Given the description of an element on the screen output the (x, y) to click on. 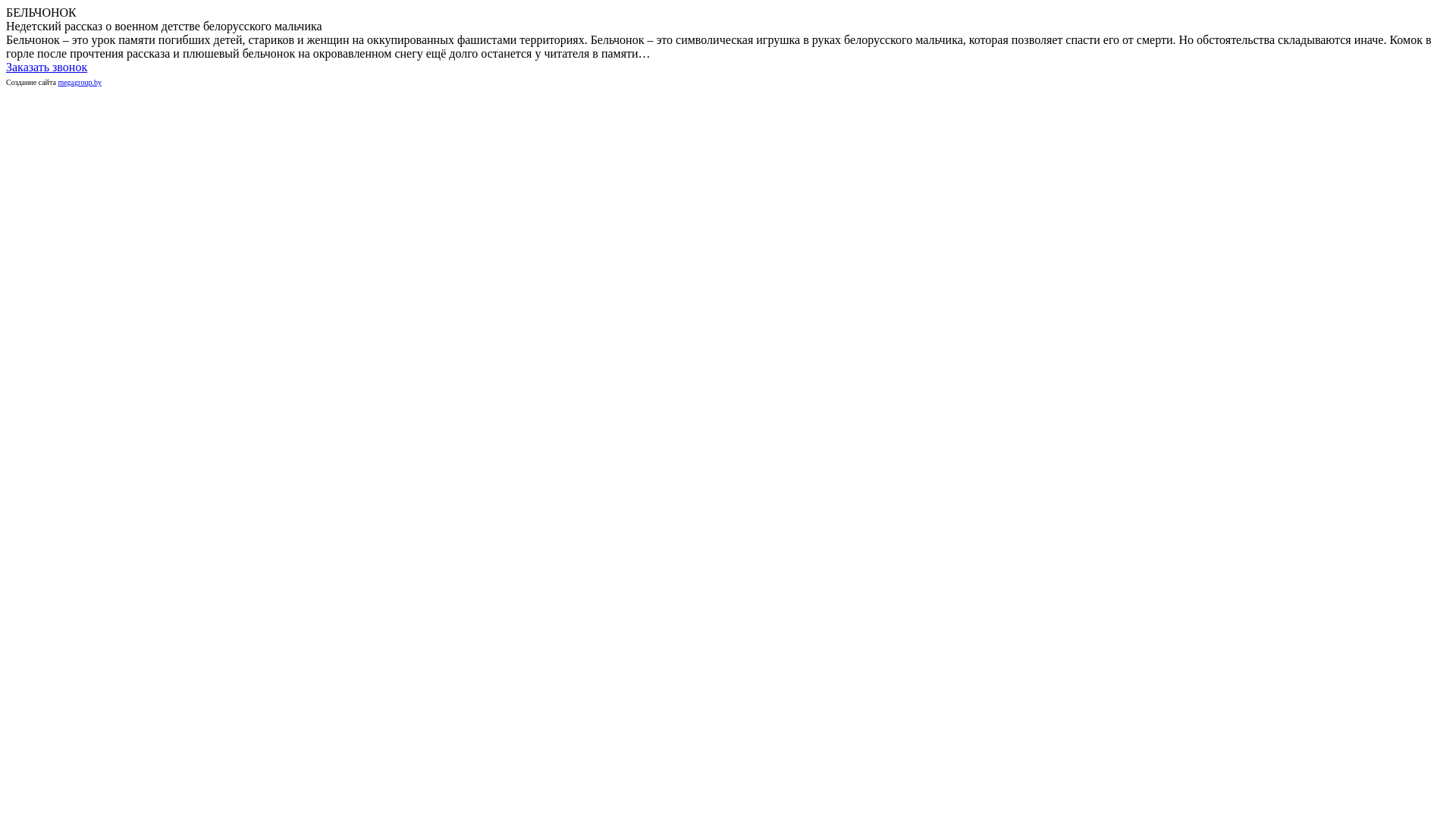
megagroup.by Element type: text (79, 82)
